Given the description of an element on the screen output the (x, y) to click on. 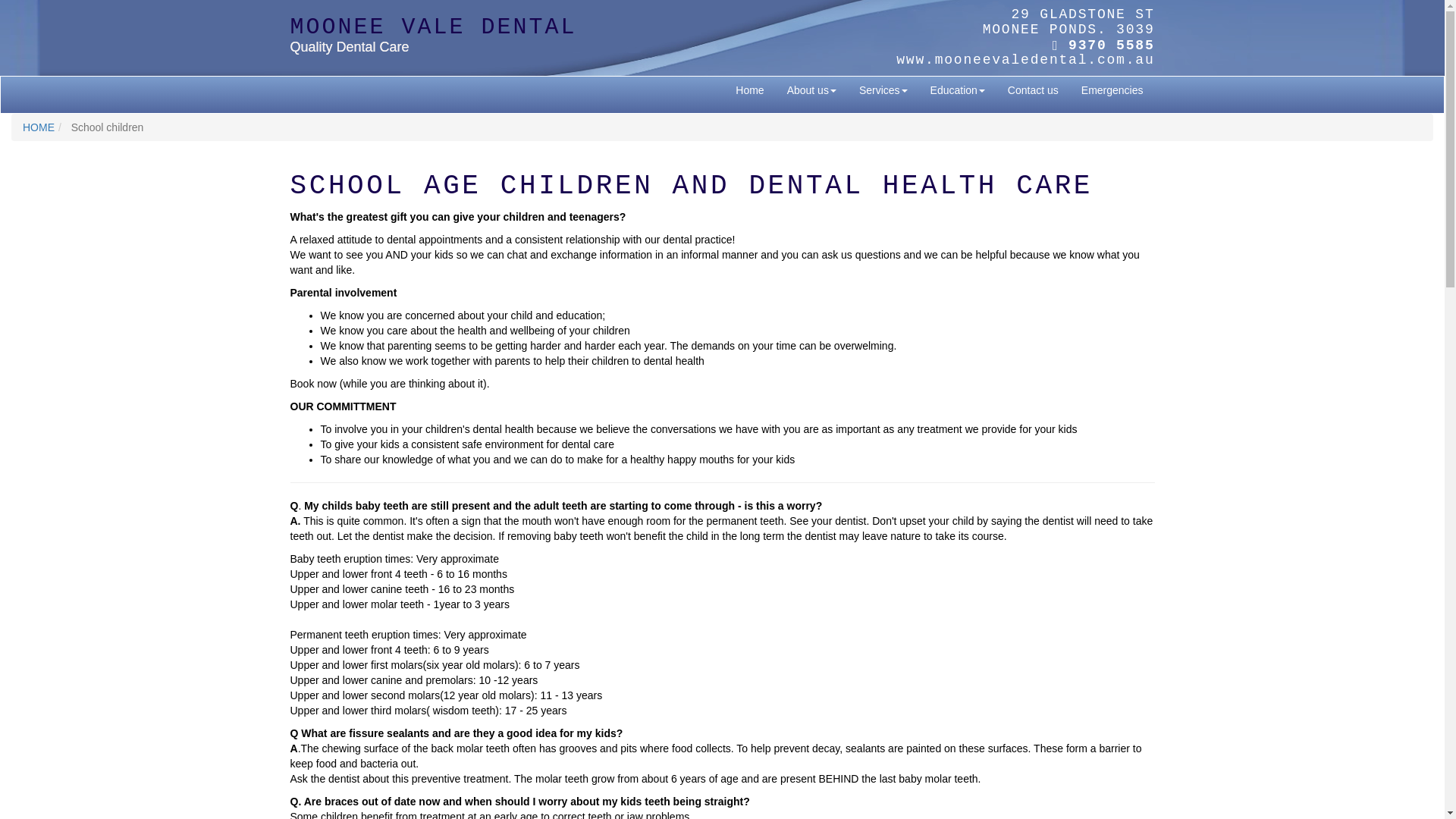
Education Element type: text (957, 89)
Emergencies Element type: text (1112, 89)
Home Element type: text (749, 89)
Services Element type: text (883, 89)
HOME Element type: text (38, 127)
About us Element type: text (811, 89)
Contact us Element type: text (1032, 89)
MOONEE VALE DENTAL
Quality Dental Care Element type: text (573, 35)
9370 5585 Element type: text (1111, 45)
